Given the description of an element on the screen output the (x, y) to click on. 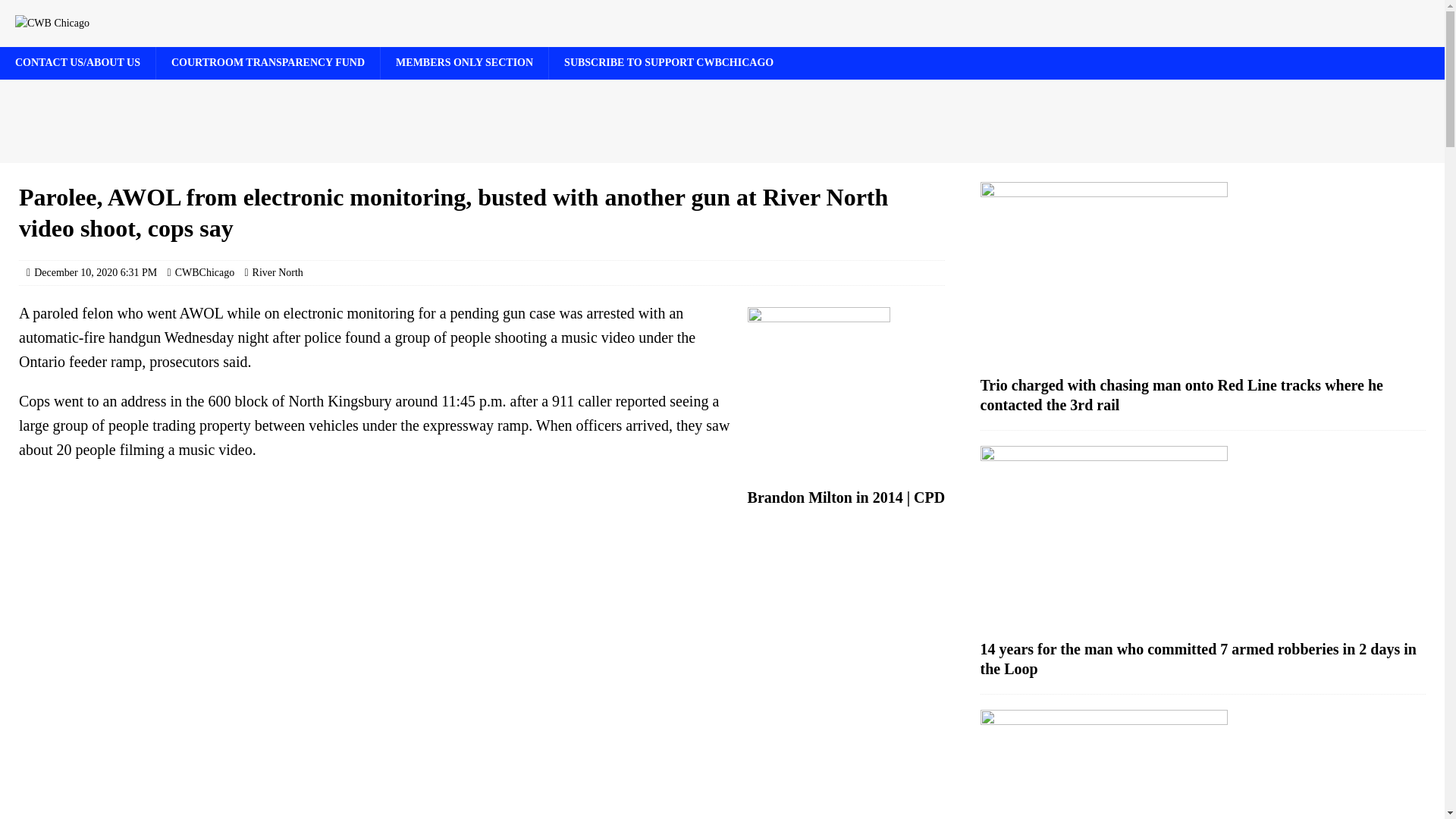
River North (276, 272)
CWBChicago (204, 272)
SUBSCRIBE TO SUPPORT CWBCHICAGO (668, 62)
Charges filed after Gold Coast shooting (1202, 764)
MEMBERS ONLY SECTION (464, 62)
December 10, 2020 6:31 PM (95, 272)
